Given the description of an element on the screen output the (x, y) to click on. 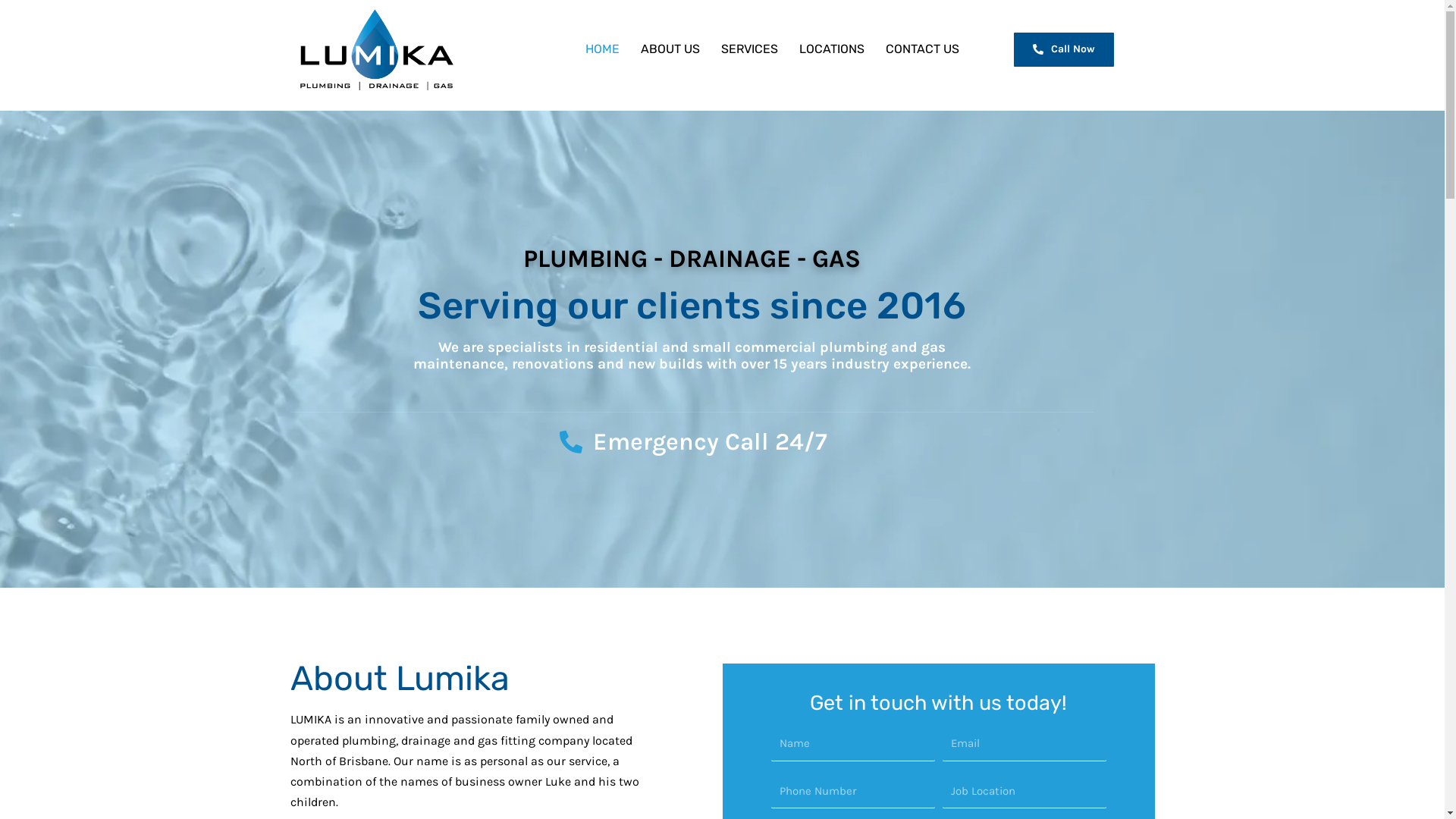
HOME Element type: text (602, 48)
CONTACT US Element type: text (922, 48)
Emergency Call 24/7 Element type: text (691, 441)
LOCATIONS Element type: text (831, 48)
SERVICES Element type: text (749, 48)
Call Now Element type: text (1063, 49)
ABOUT US Element type: text (670, 48)
